Given the description of an element on the screen output the (x, y) to click on. 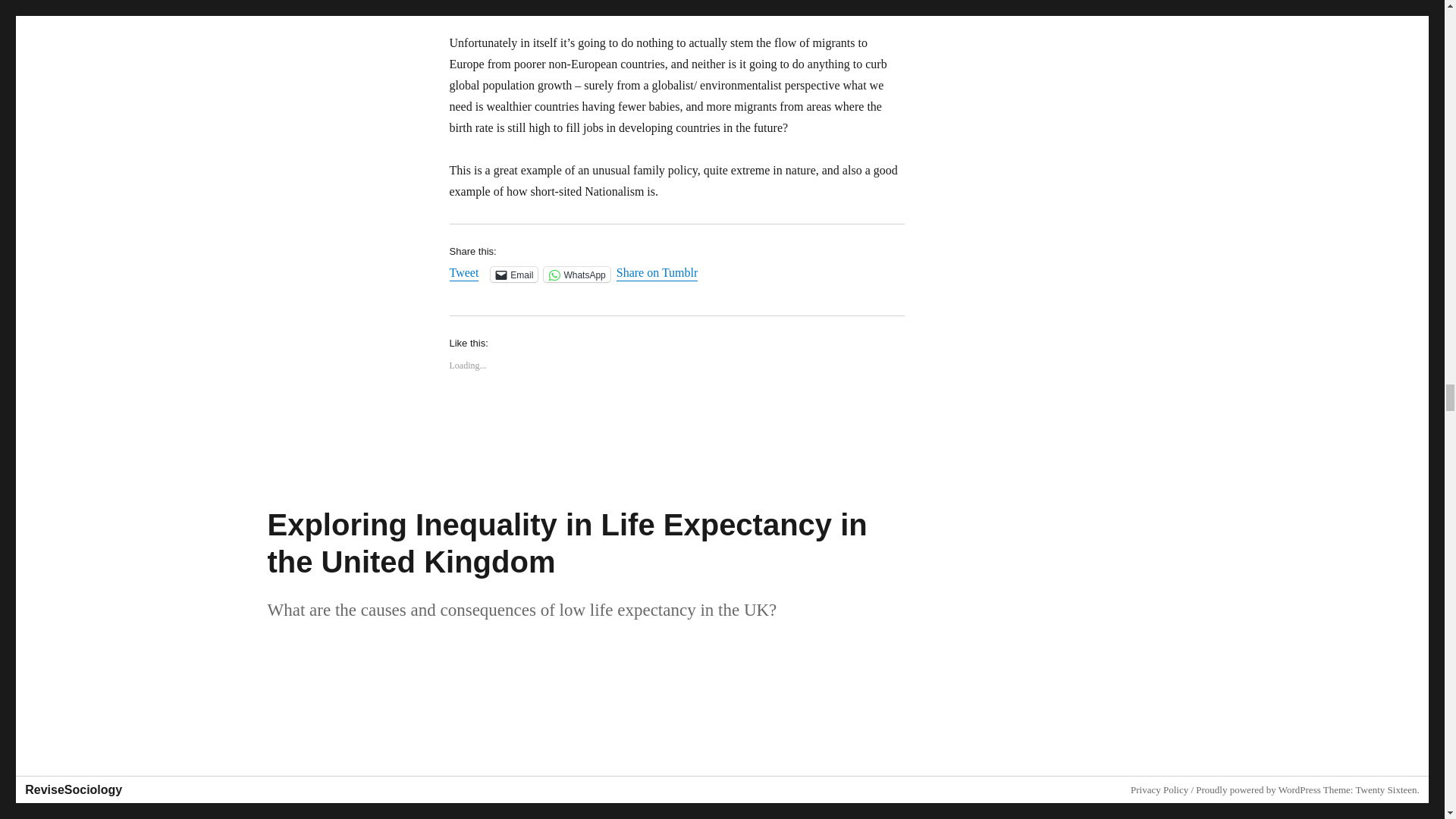
Click to email a link to a friend (513, 273)
Share on Tumblr (656, 273)
Click to share on WhatsApp (576, 273)
